Given the description of an element on the screen output the (x, y) to click on. 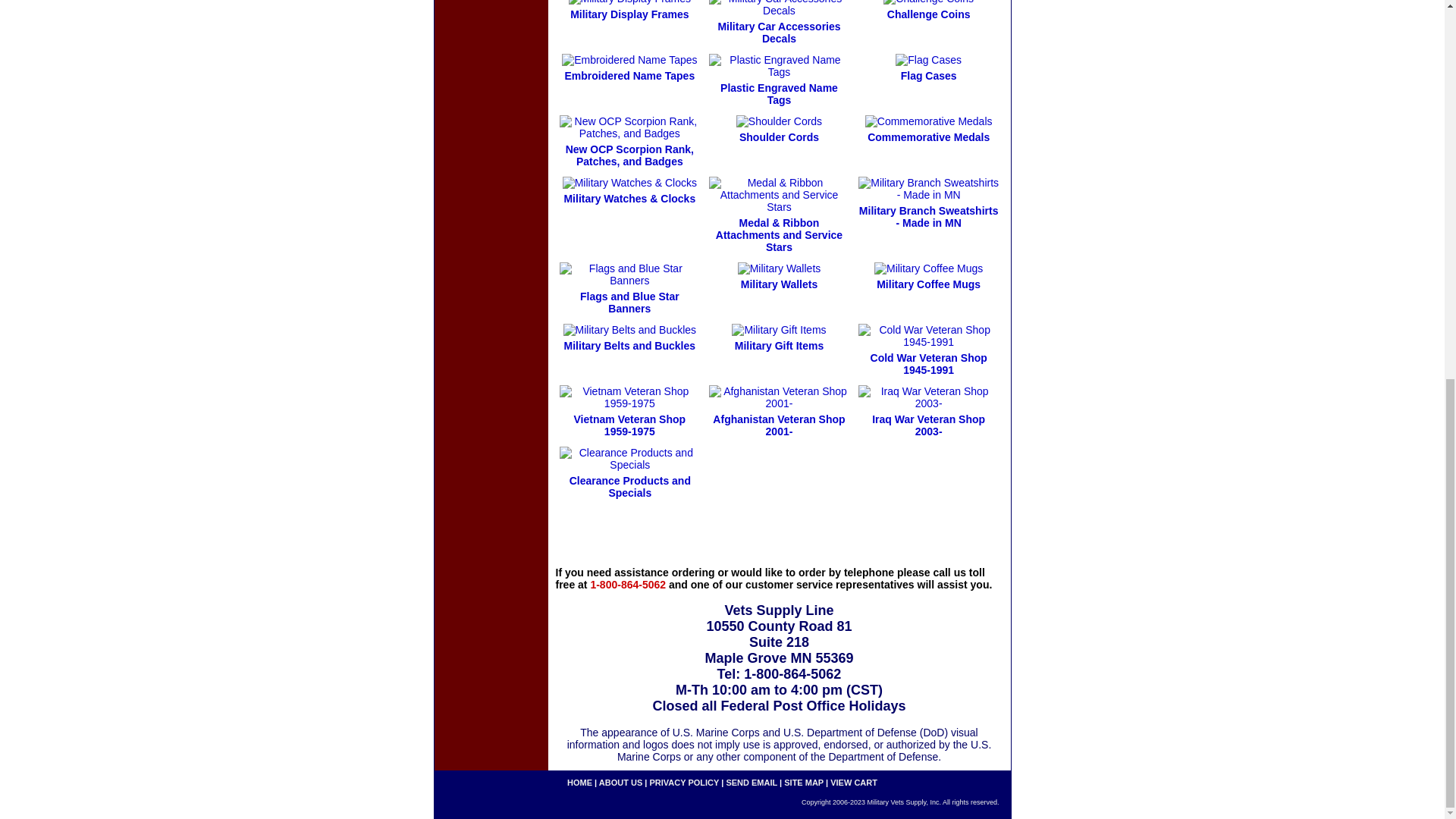
Military Display Frames (629, 14)
New OCP Scorpion Rank, Patches, and Badges (630, 155)
Embroidered Name Tapes (629, 75)
Plastic Engraved Name Tags (779, 93)
Flag Cases (928, 75)
Military Display Frames (629, 2)
Challenge Coins (928, 14)
Military Car Accessories Decals (778, 32)
